Given the description of an element on the screen output the (x, y) to click on. 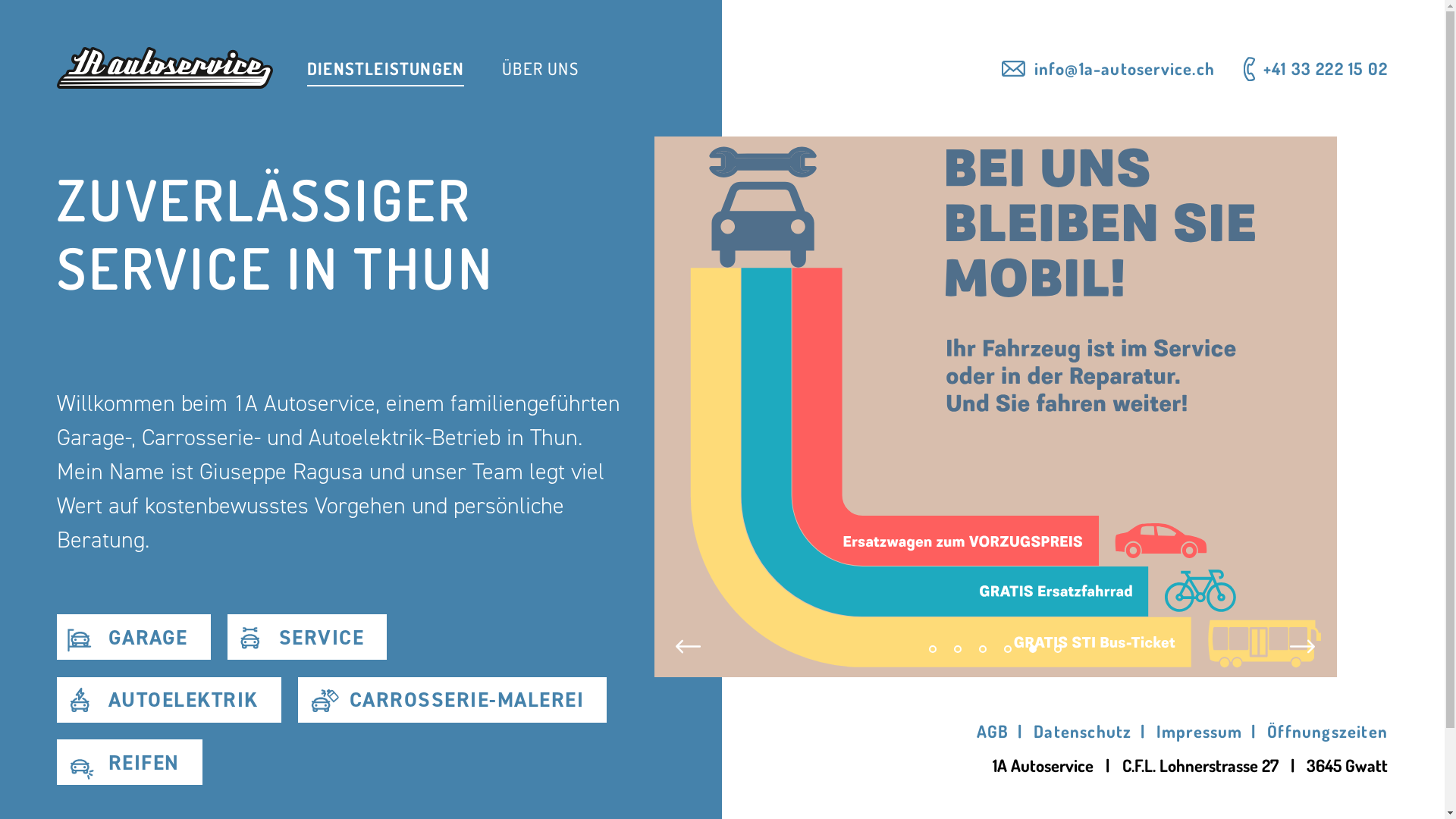
GARAGE Element type: text (133, 636)
Previous Element type: text (688, 645)
AUTOELEKTRIK Element type: text (168, 698)
3 Element type: text (983, 648)
4 Element type: text (1008, 648)
1 Element type: text (932, 648)
DIENSTLEISTUNGEN Element type: text (385, 71)
Impressum Element type: text (1199, 730)
Next Element type: text (1302, 645)
5 Element type: text (1033, 648)
6 Element type: text (1058, 648)
2 Element type: text (957, 648)
SERVICE Element type: text (306, 636)
info@1a-autoservice.ch Element type: text (1124, 67)
CARROSSERIE-MALEREI Element type: text (452, 698)
Datenschutz Element type: text (1082, 730)
+41 33 222 15 02 Element type: text (1325, 67)
REIFEN Element type: text (129, 761)
AGB Element type: text (992, 730)
